Given the description of an element on the screen output the (x, y) to click on. 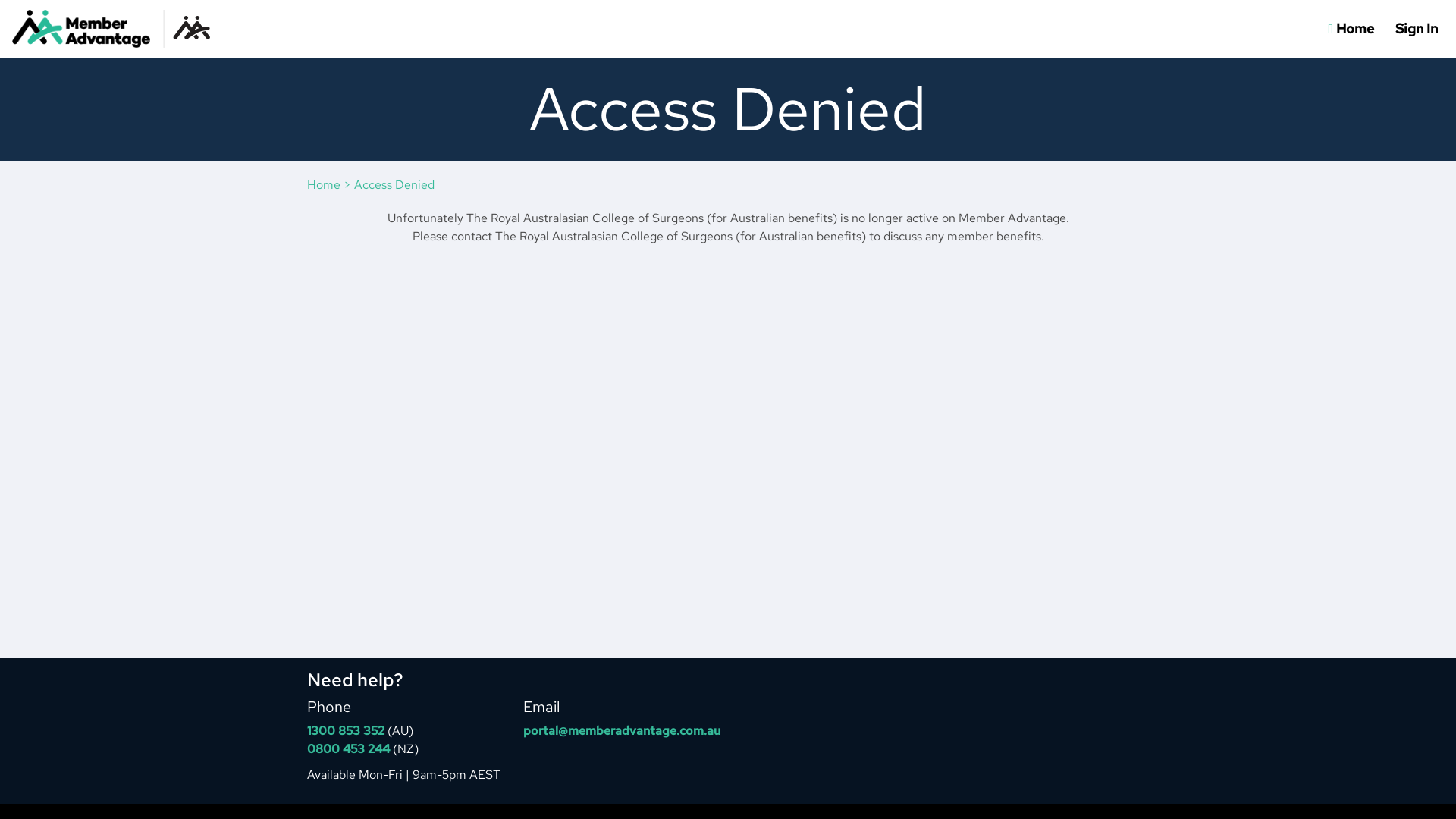
portal@memberadvantage.com.au Element type: text (621, 730)
Home Element type: text (323, 184)
1300 853 352 Element type: text (345, 730)
0800 453 244 Element type: text (348, 748)
Home Element type: text (1351, 28)
Sign In Element type: text (1416, 28)
